Given the description of an element on the screen output the (x, y) to click on. 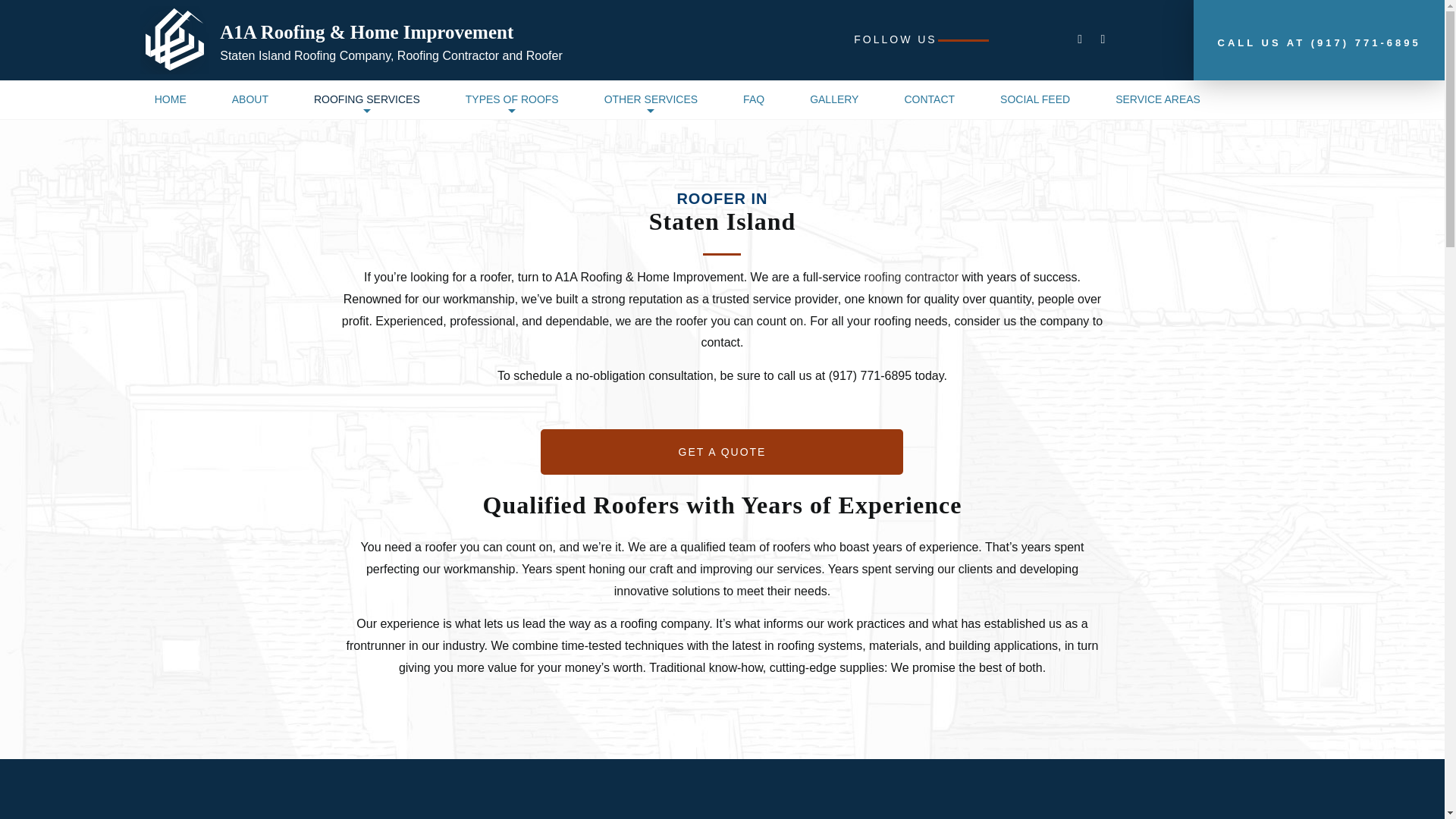
CONTACT (928, 99)
GALLERY (833, 99)
HOME (170, 99)
Roofing Company (911, 277)
Follow on Facebook (1079, 38)
See on Google Maps (1102, 38)
FAQ (753, 99)
OTHER SERVICES (650, 99)
ABOUT (250, 99)
Contact us to Get Started Today (721, 452)
SOCIAL FEED (1034, 99)
ROOFING SERVICES (366, 99)
TYPES OF ROOFS (511, 99)
